Given the description of an element on the screen output the (x, y) to click on. 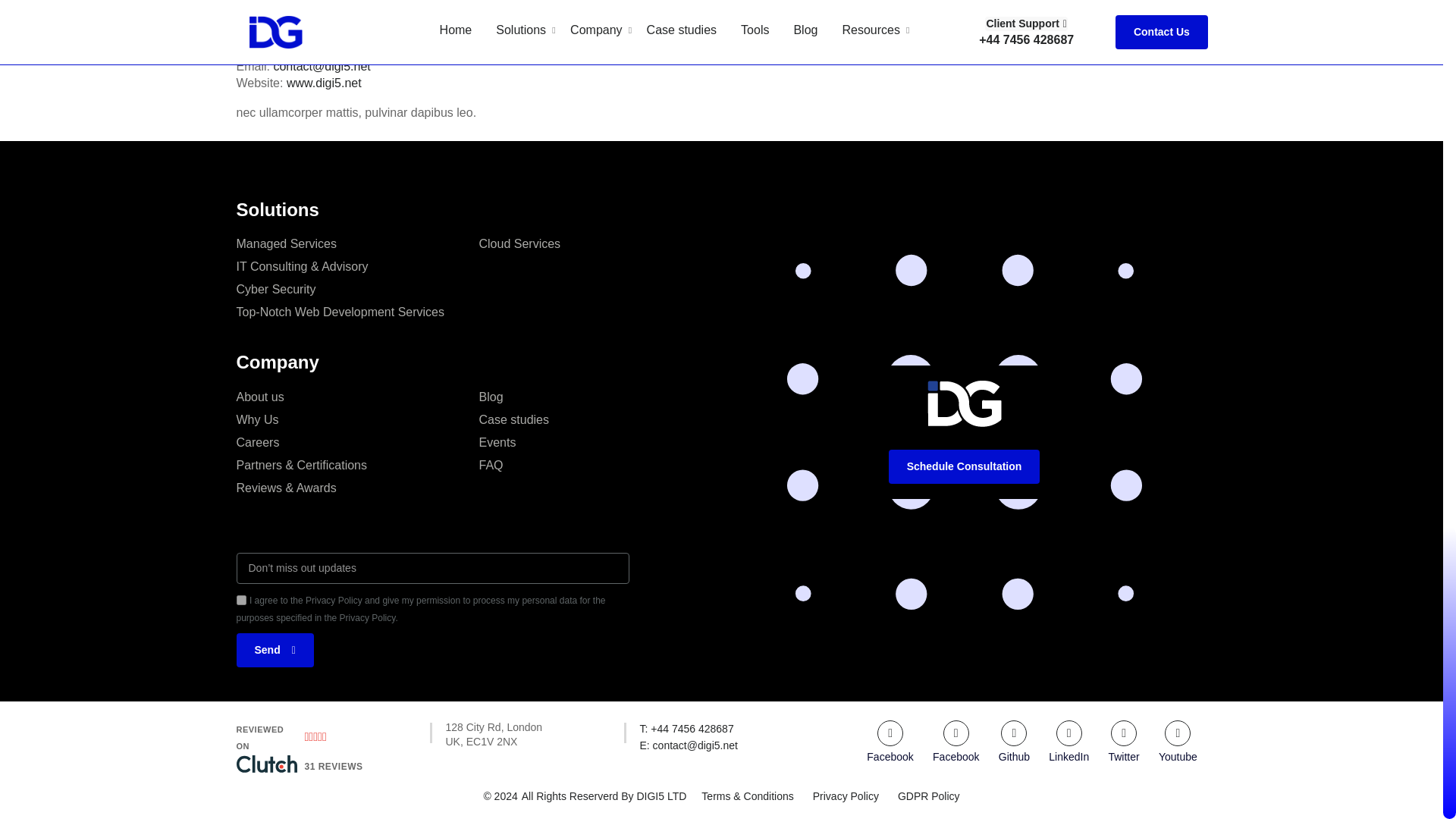
on (240, 600)
Cloud Services (600, 442)
